Given the description of an element on the screen output the (x, y) to click on. 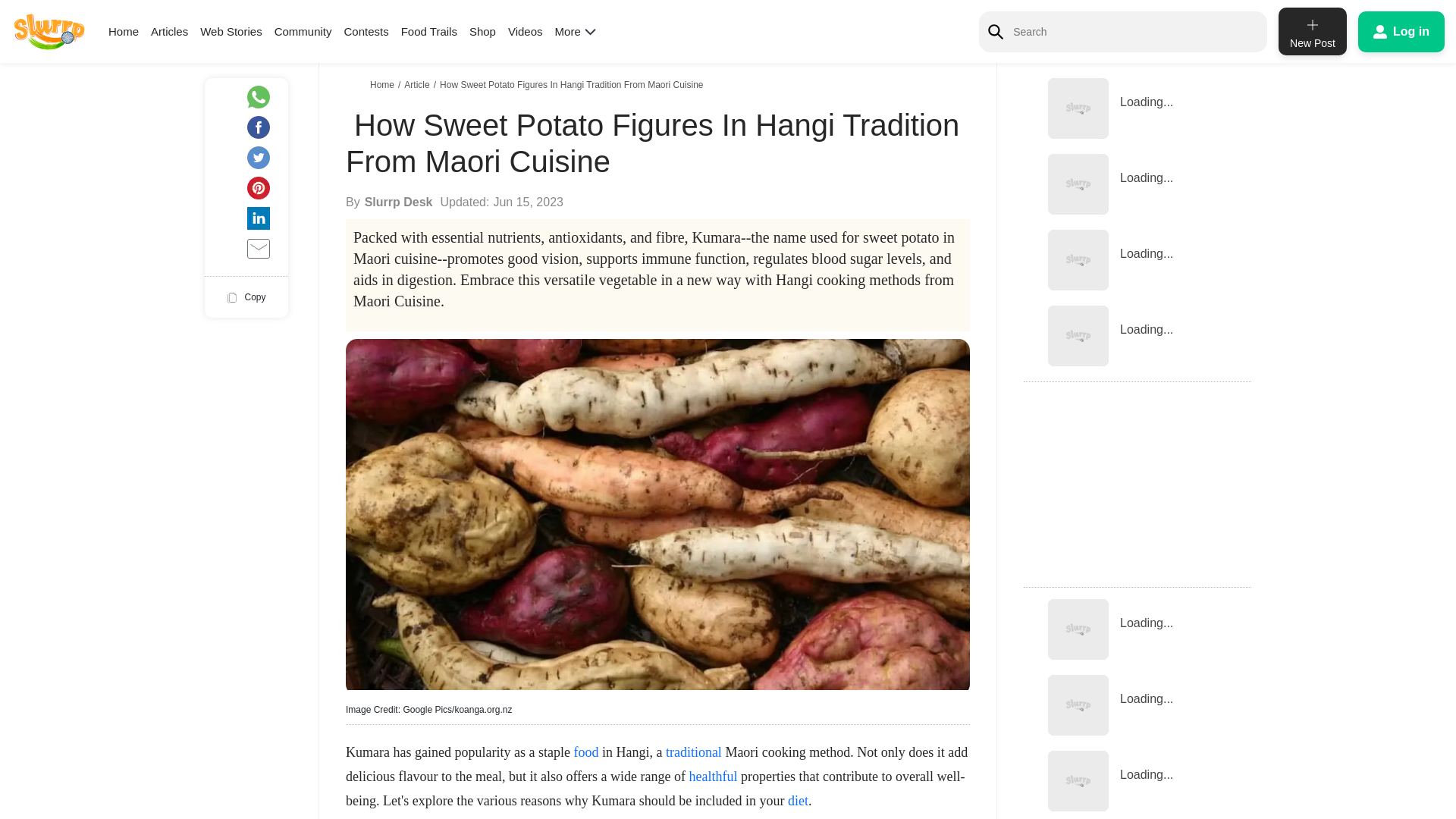
Web Stories (231, 31)
Contests (365, 31)
Community (303, 31)
New Post (1312, 31)
Food Trails (429, 31)
Log in (1401, 30)
Articles (169, 31)
Home (122, 31)
user login (1401, 30)
Videos (525, 31)
